Given the description of an element on the screen output the (x, y) to click on. 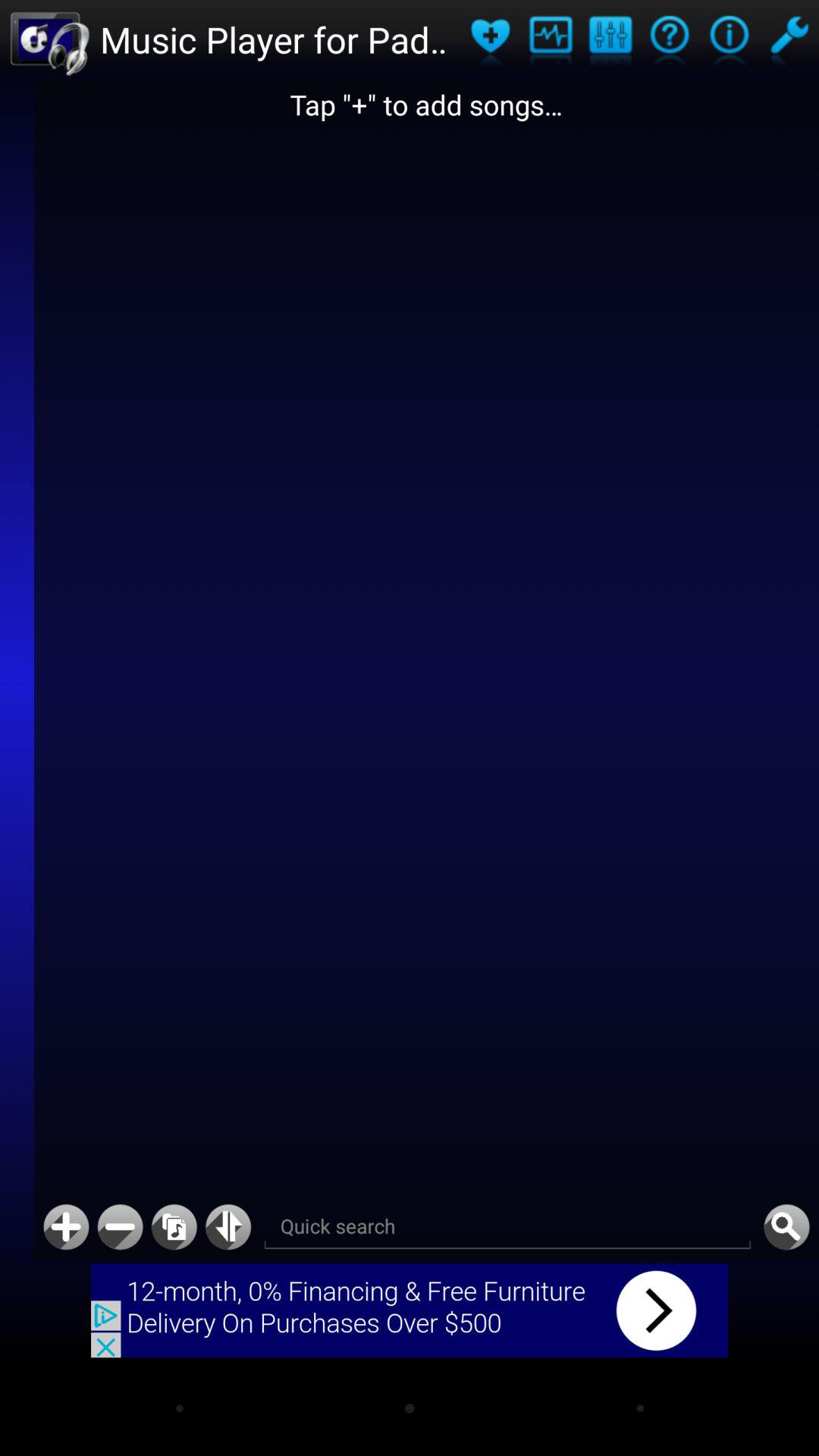
add a song (66, 1226)
